Given the description of an element on the screen output the (x, y) to click on. 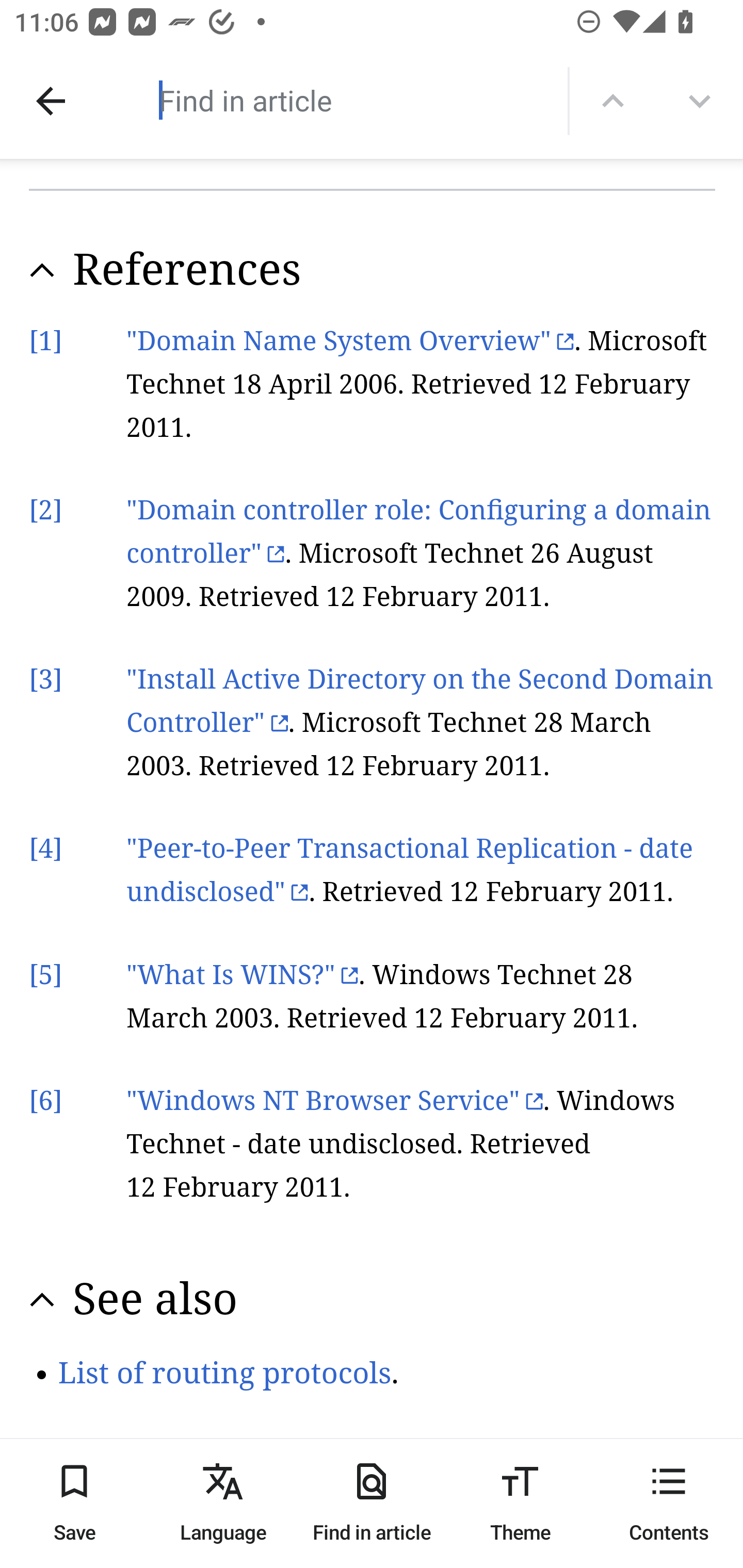
Done (50, 101)
Find previous (612, 101)
More options (699, 101)
Find in article (334, 100)
Collapse section References (372, 269)
Collapse section (41, 270)
[1] (45, 341)
"Domain Name System Overview" (350, 341)
[2] (45, 509)
[3] (45, 680)
[4] (45, 850)
[5] (45, 974)
"What Is WINS?" (242, 974)
[6] (45, 1100)
"Windows NT Browser Service" (334, 1100)
Collapse section See also (372, 1298)
Collapse section (41, 1299)
List of routing protocols (224, 1373)
Save (74, 1502)
Language (222, 1502)
Find in article (371, 1502)
Theme (519, 1502)
Contents (668, 1502)
